Given the description of an element on the screen output the (x, y) to click on. 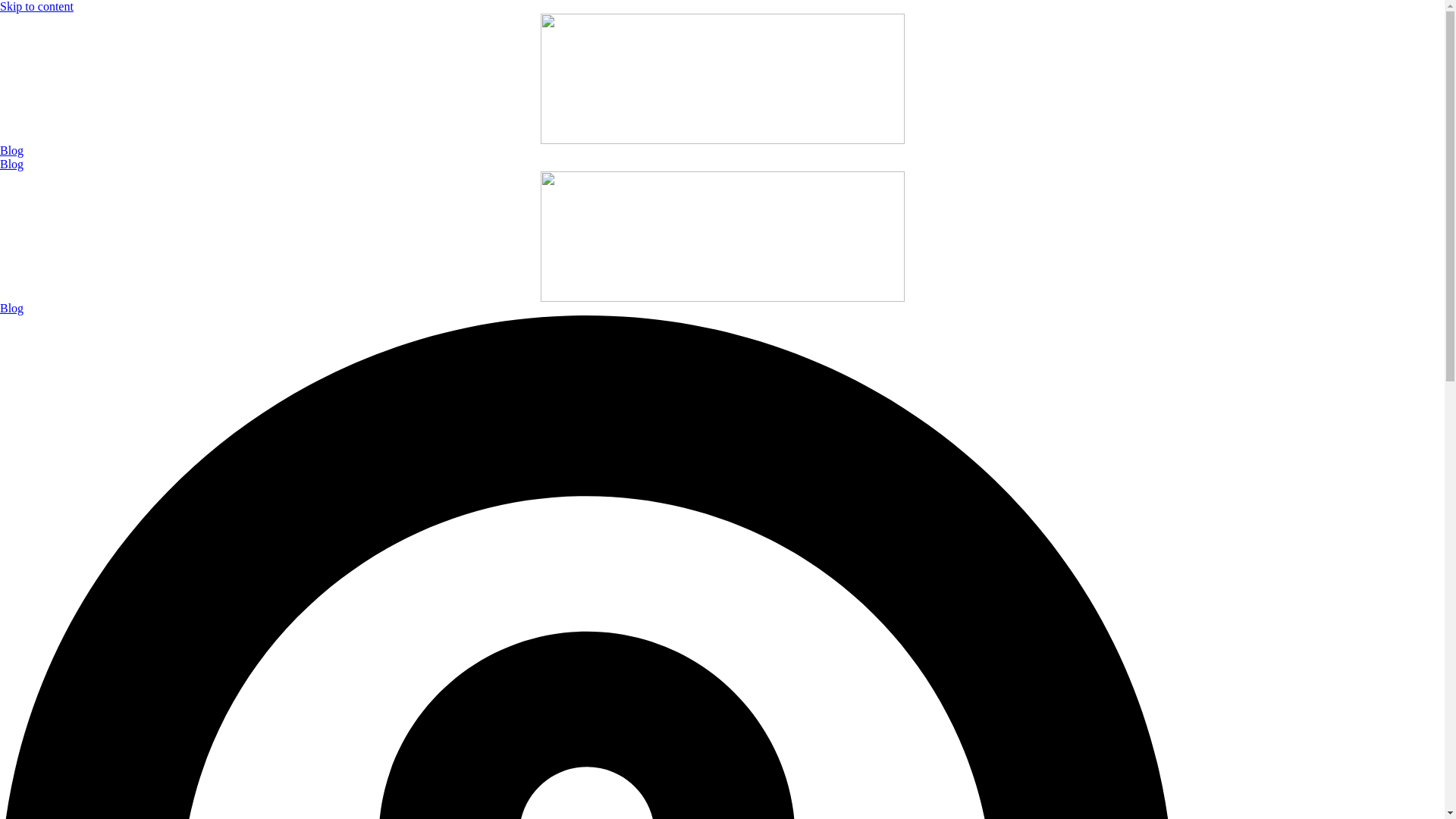
Skip to content (37, 6)
Blog (11, 164)
Blog (11, 150)
Blog (11, 308)
